Given the description of an element on the screen output the (x, y) to click on. 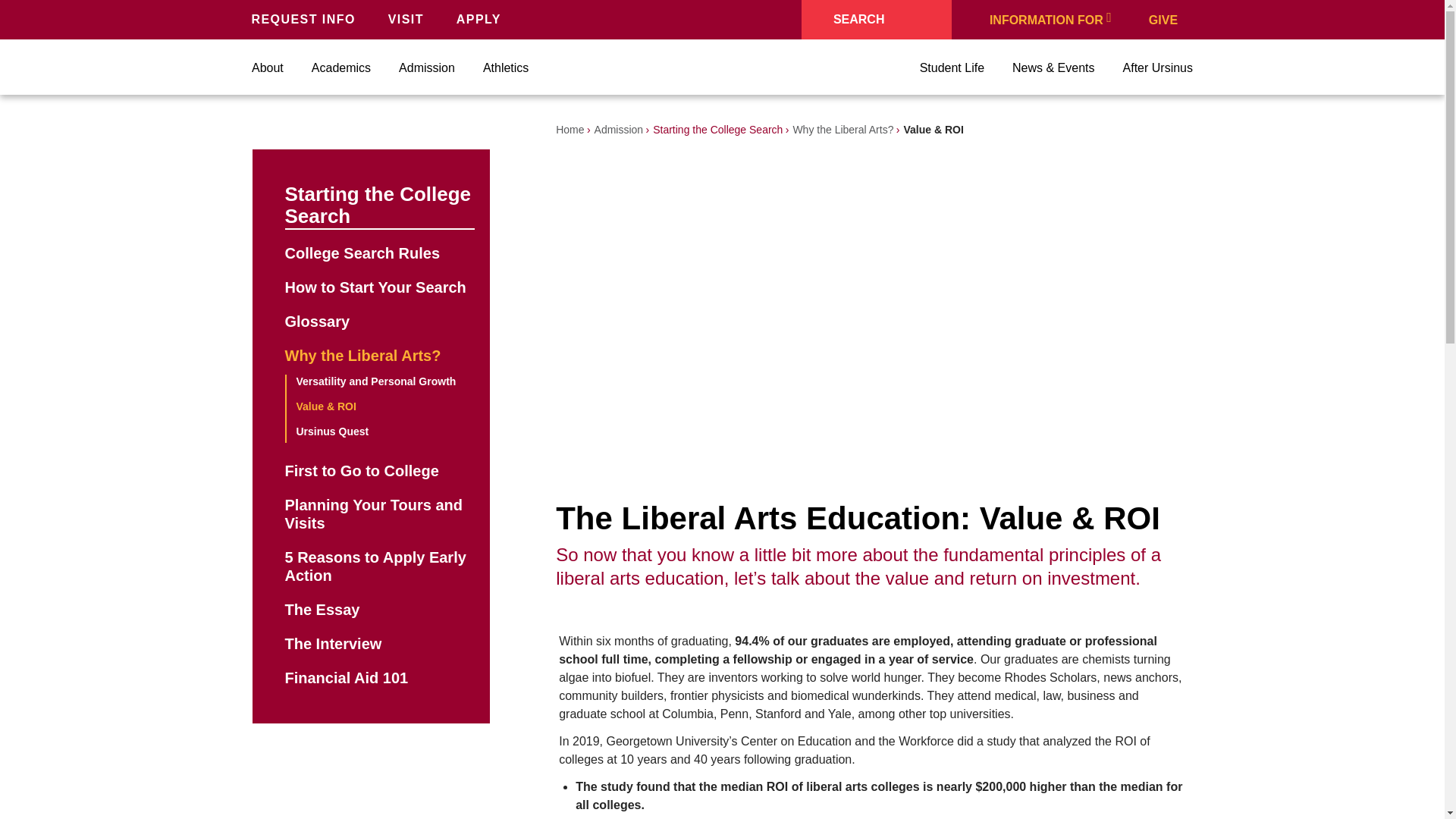
GIVE (1170, 19)
About (267, 67)
Search Bar (877, 19)
Student Life (952, 67)
Athletics (505, 67)
Academics (341, 67)
INFORMATION FOR (1050, 19)
Ursinus College (723, 67)
Admission (426, 67)
REQUEST INFO (306, 19)
VISIT (409, 19)
APPLY (482, 19)
After Ursinus (1157, 67)
